Given the description of an element on the screen output the (x, y) to click on. 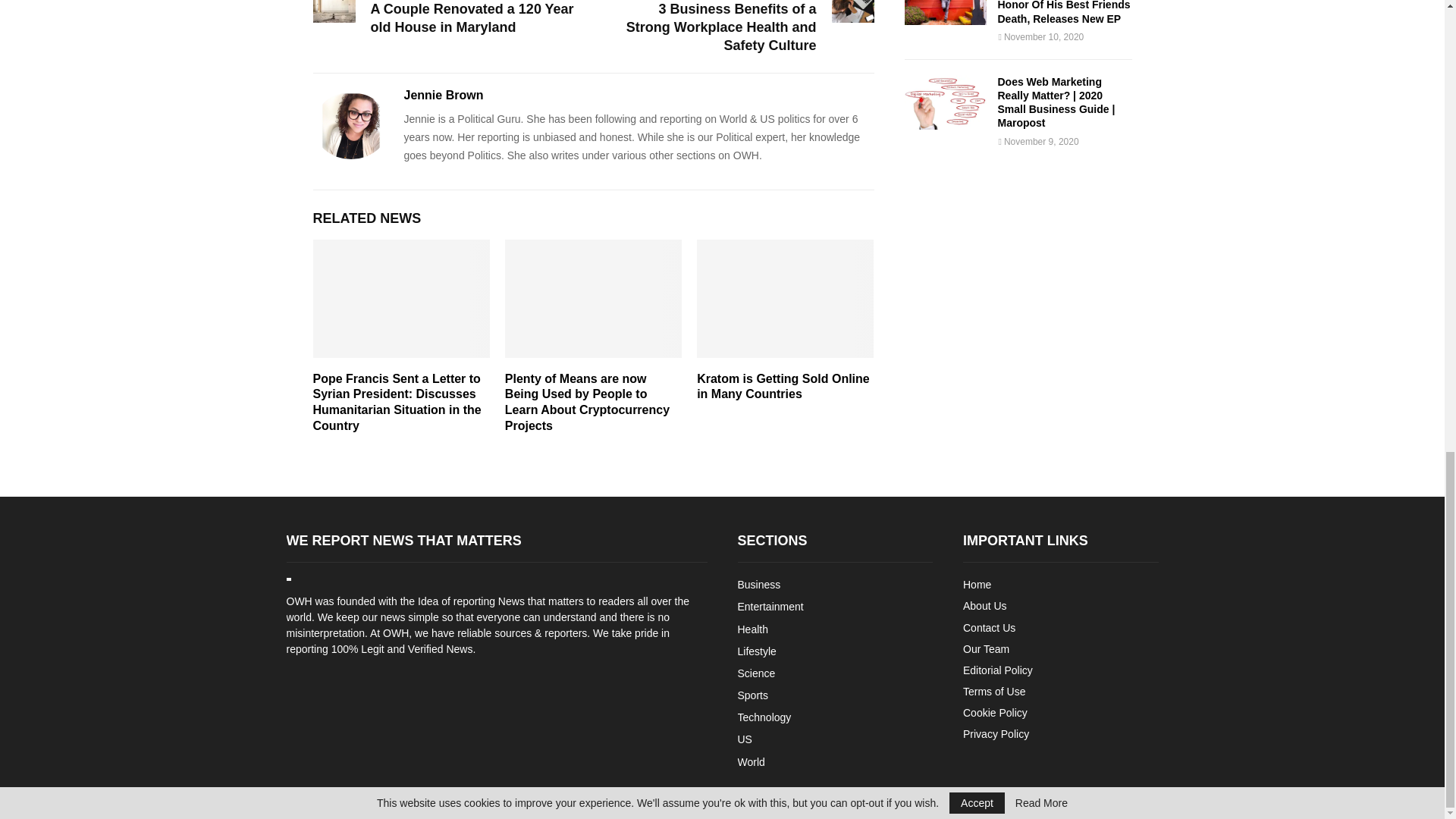
Posts by Jennie Brown (443, 95)
